Given the description of an element on the screen output the (x, y) to click on. 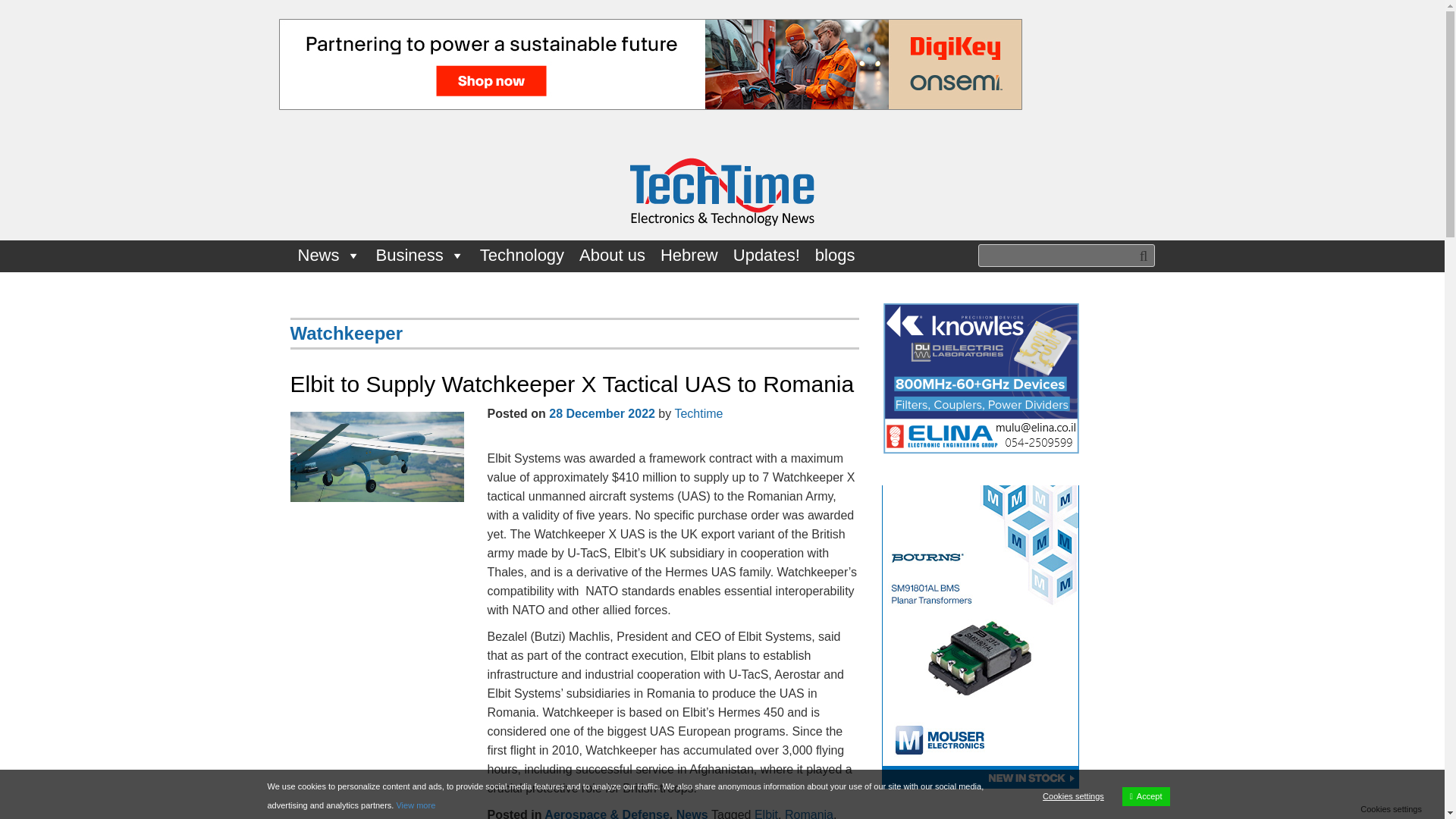
blogs (835, 255)
Updates! (766, 255)
About us (612, 255)
News (328, 255)
Business (419, 255)
Hebrew (688, 255)
Technology (521, 255)
